Given the description of an element on the screen output the (x, y) to click on. 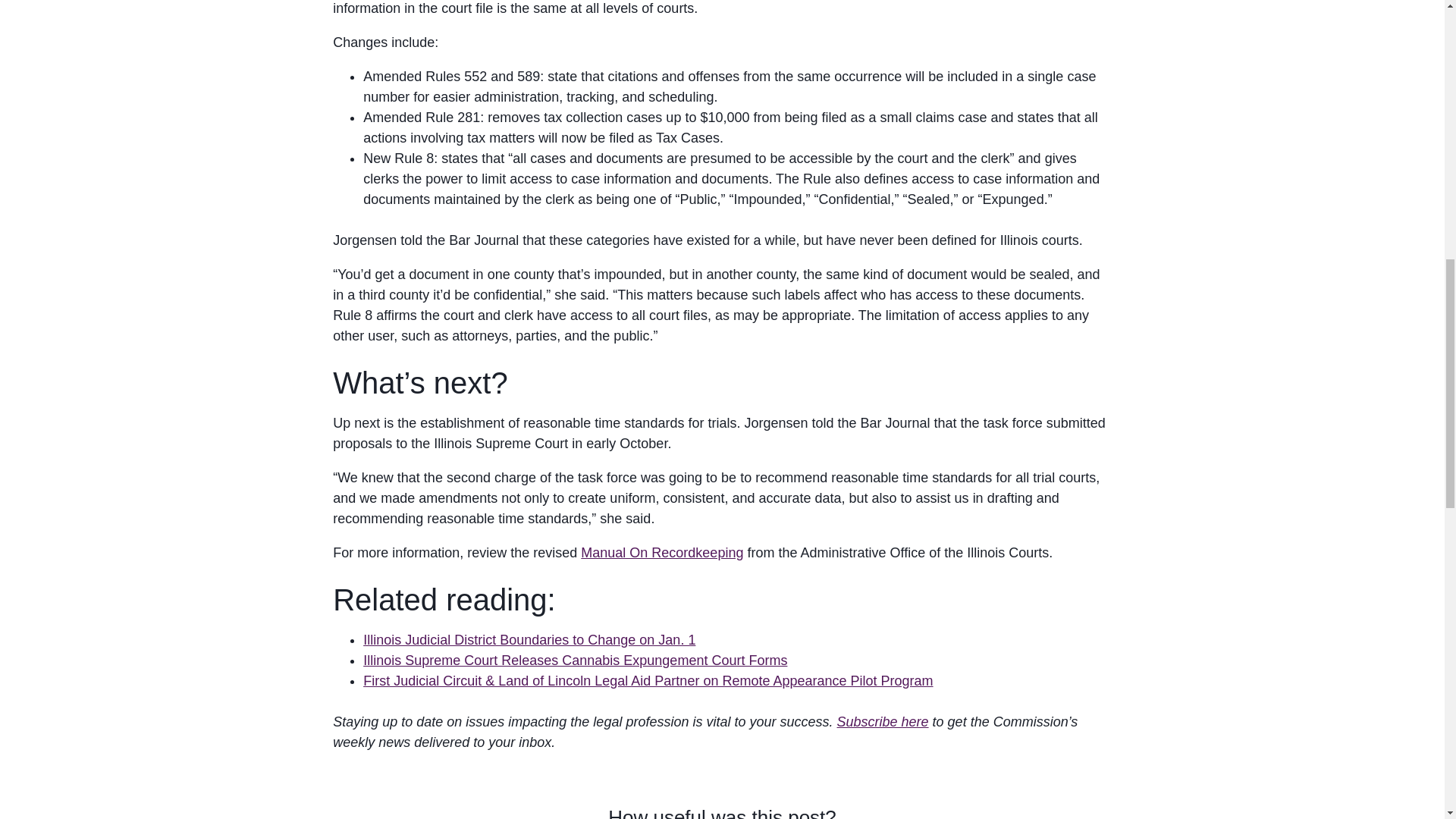
Subscribe here (882, 721)
Illinois Judicial District Boundaries to Change on Jan. 1 (528, 639)
Manual On Recordkeeping (661, 552)
